Given the description of an element on the screen output the (x, y) to click on. 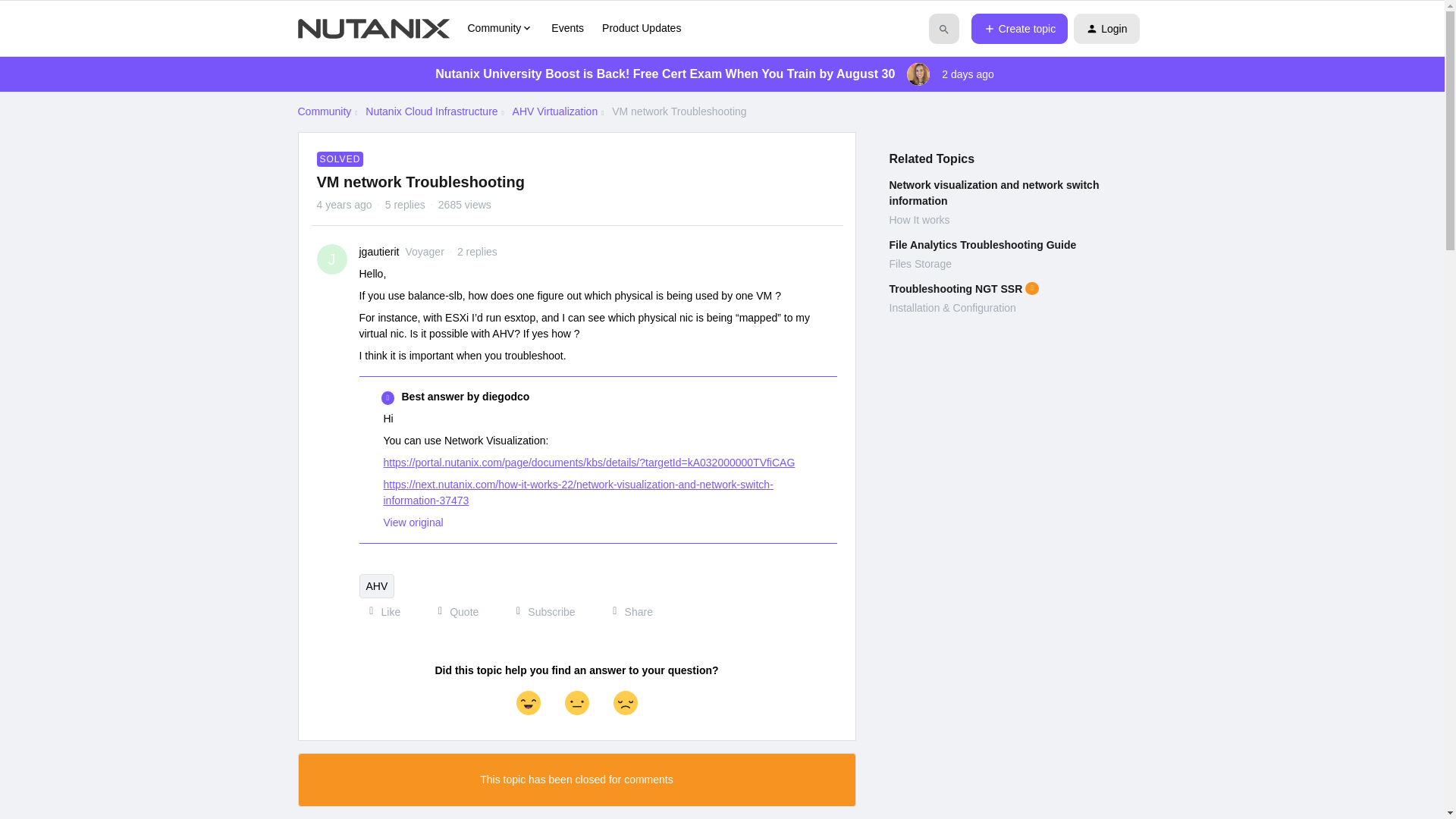
Community (499, 28)
